Given the description of an element on the screen output the (x, y) to click on. 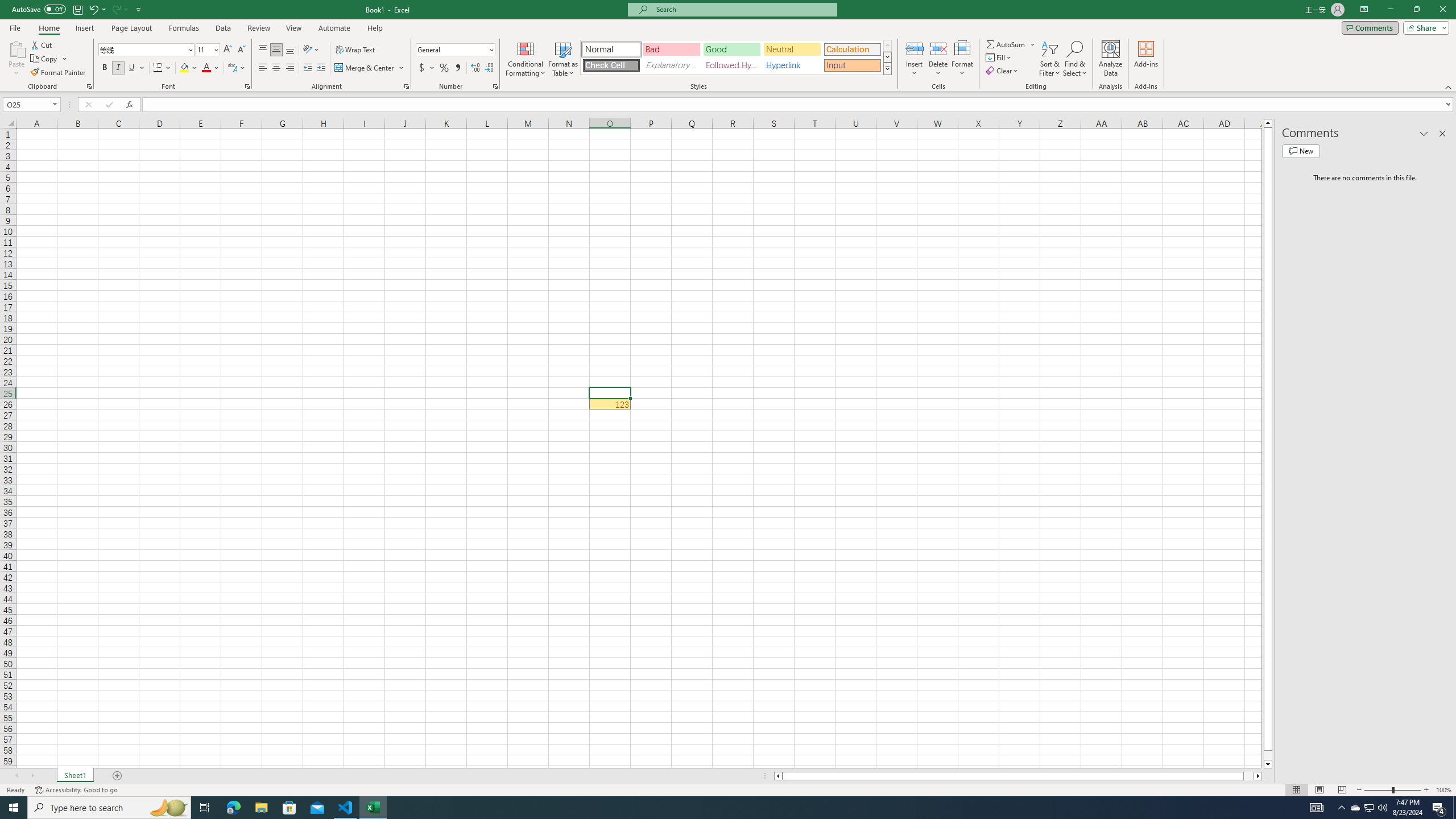
Merge & Center (365, 67)
Formula Bar (799, 104)
Comma Style (457, 67)
Decrease Font Size (240, 49)
Font Color (210, 67)
Format Painter (58, 72)
Sum (1006, 44)
Align Left (262, 67)
Row up (887, 45)
